Given the description of an element on the screen output the (x, y) to click on. 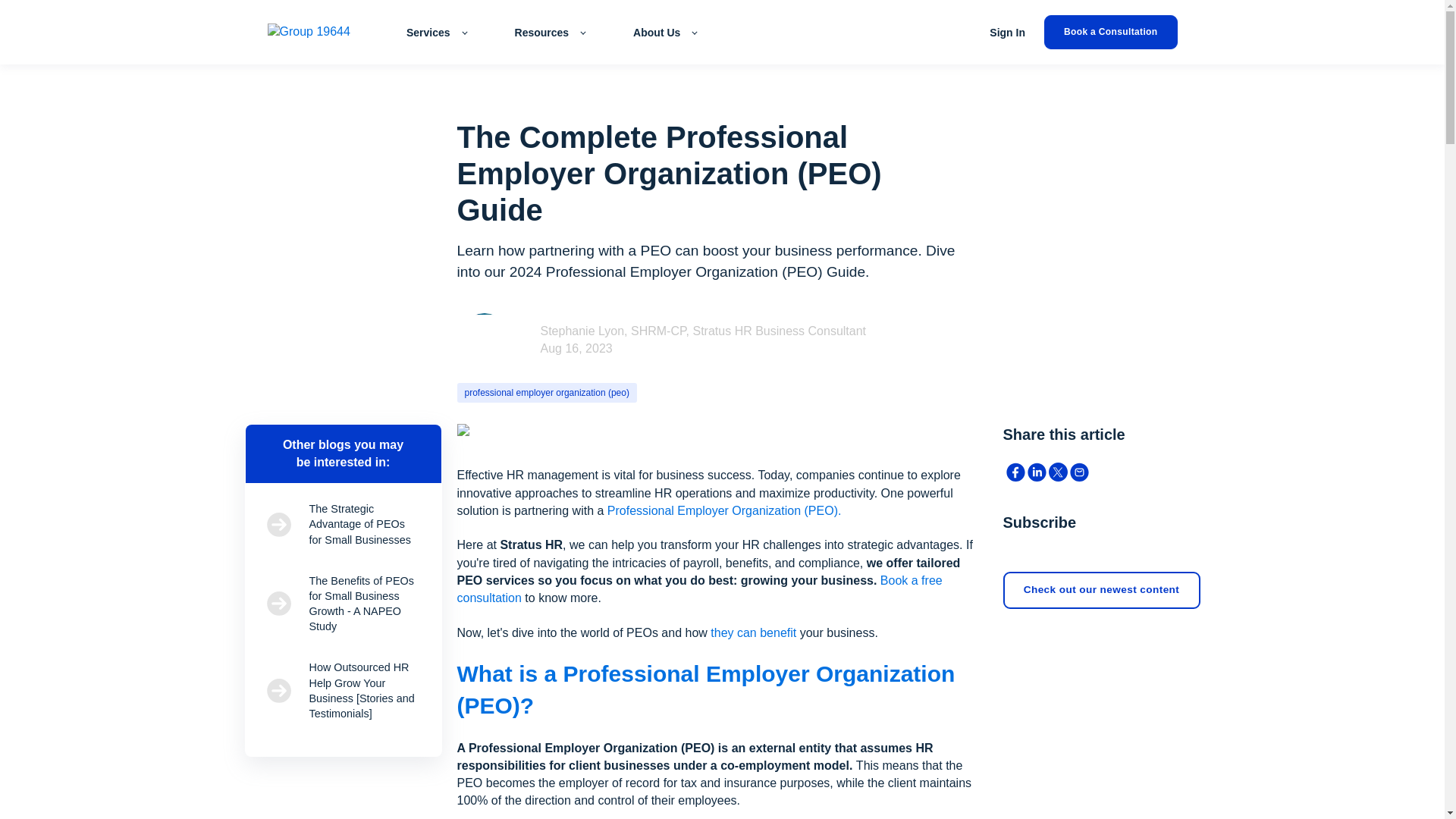
they can benefit (753, 632)
Resources (550, 31)
Stephanie Lyon, SHRM-CP, Stratus HR Business Consultant (703, 330)
Book a Consultation (1110, 32)
The Strategic Advantage of PEOs for Small Businesses (343, 524)
Check out our newest content (1101, 590)
Book a free consultation (699, 589)
Sign In (1007, 31)
Services (435, 31)
